Given the description of an element on the screen output the (x, y) to click on. 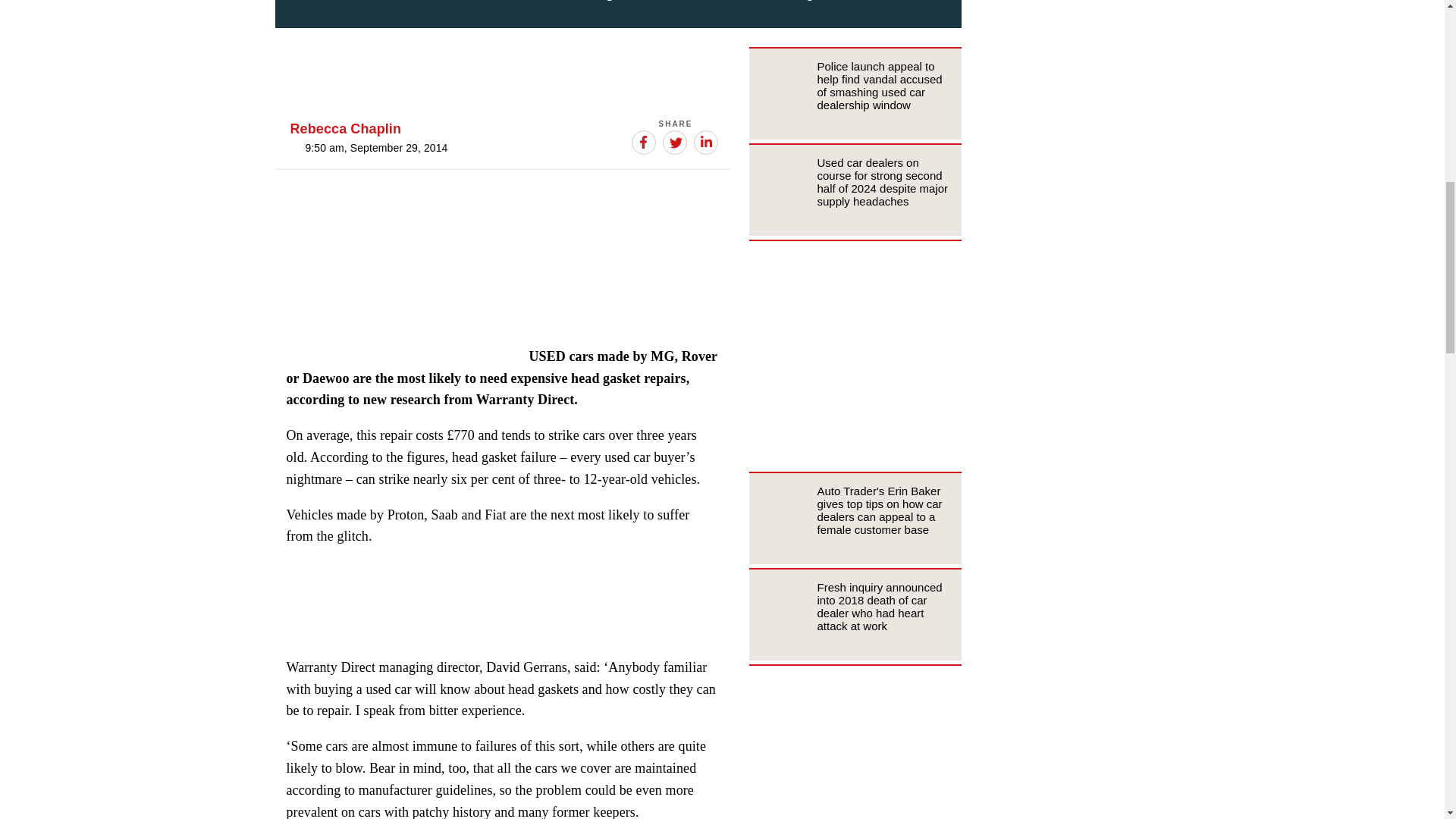
Rebecca Chaplin (345, 128)
Posts by Rebecca Chaplin (345, 128)
